Given the description of an element on the screen output the (x, y) to click on. 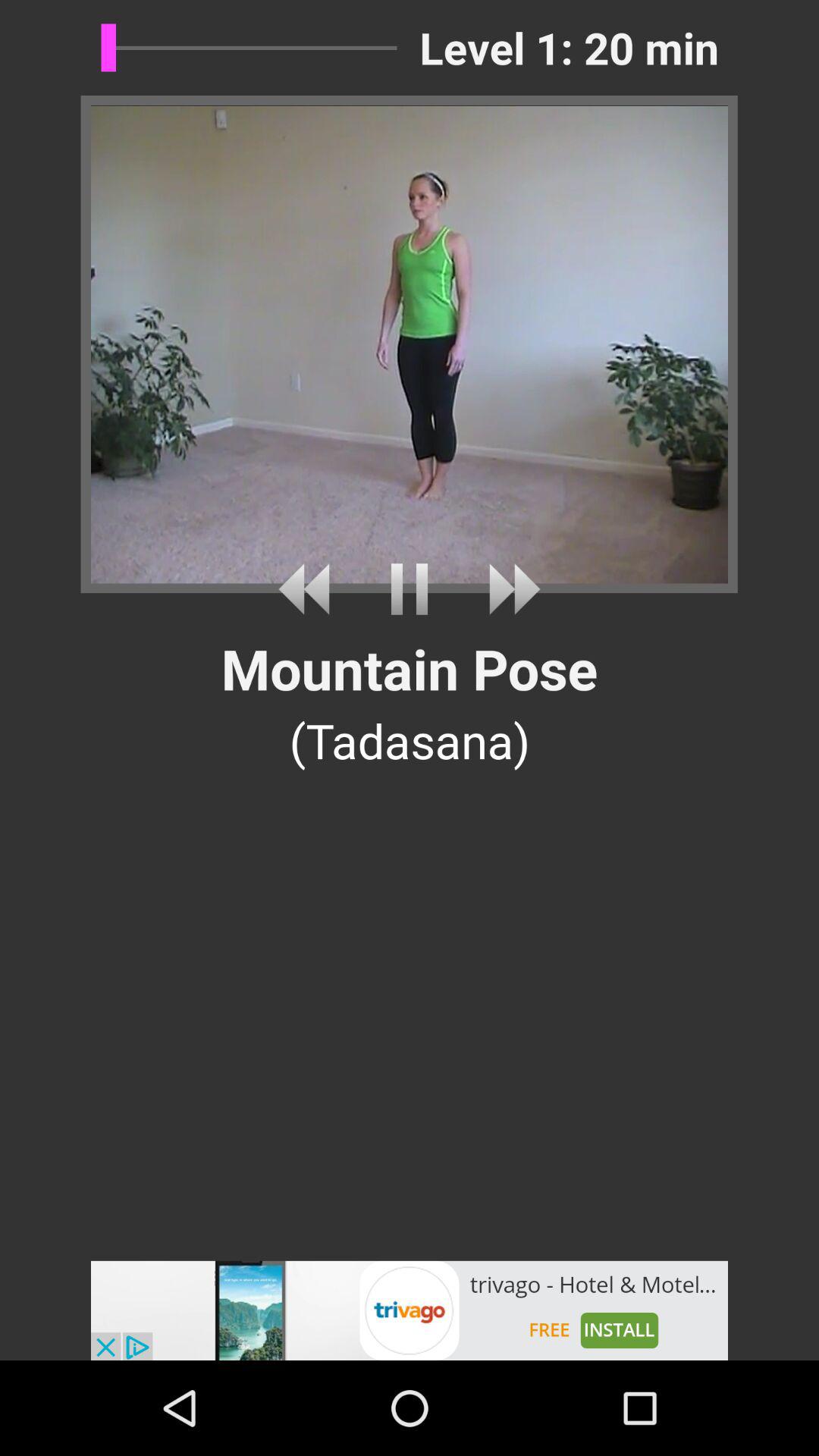
pause the video (409, 589)
